Given the description of an element on the screen output the (x, y) to click on. 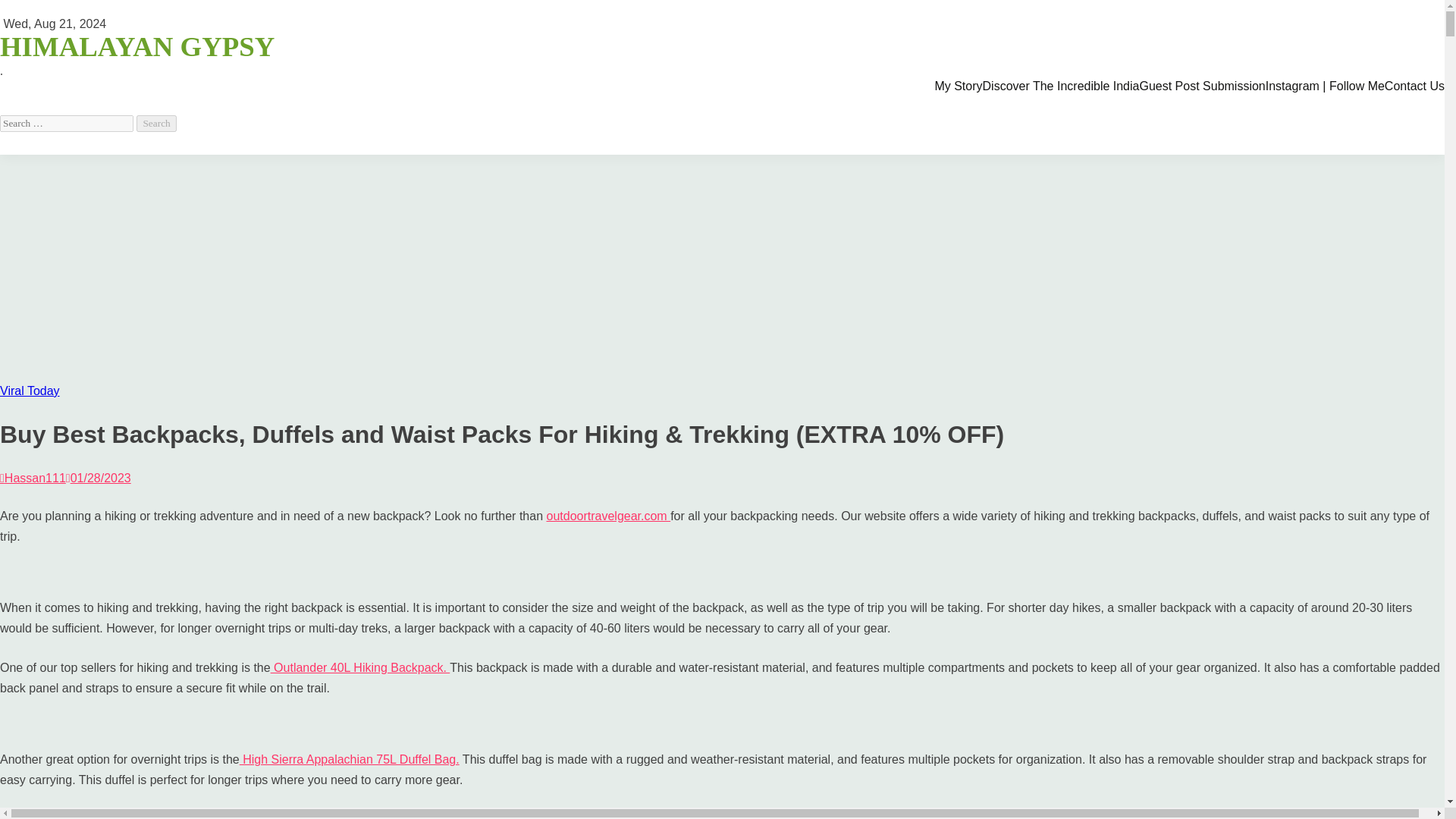
Search (156, 123)
Hassan111 (32, 477)
Guest Post Submission (1201, 85)
HIMALAYAN GYPSY (137, 46)
Search (156, 123)
Search (156, 123)
Contact Us (1414, 85)
Discover The Incredible India (1061, 85)
My Story (957, 85)
